Given the description of an element on the screen output the (x, y) to click on. 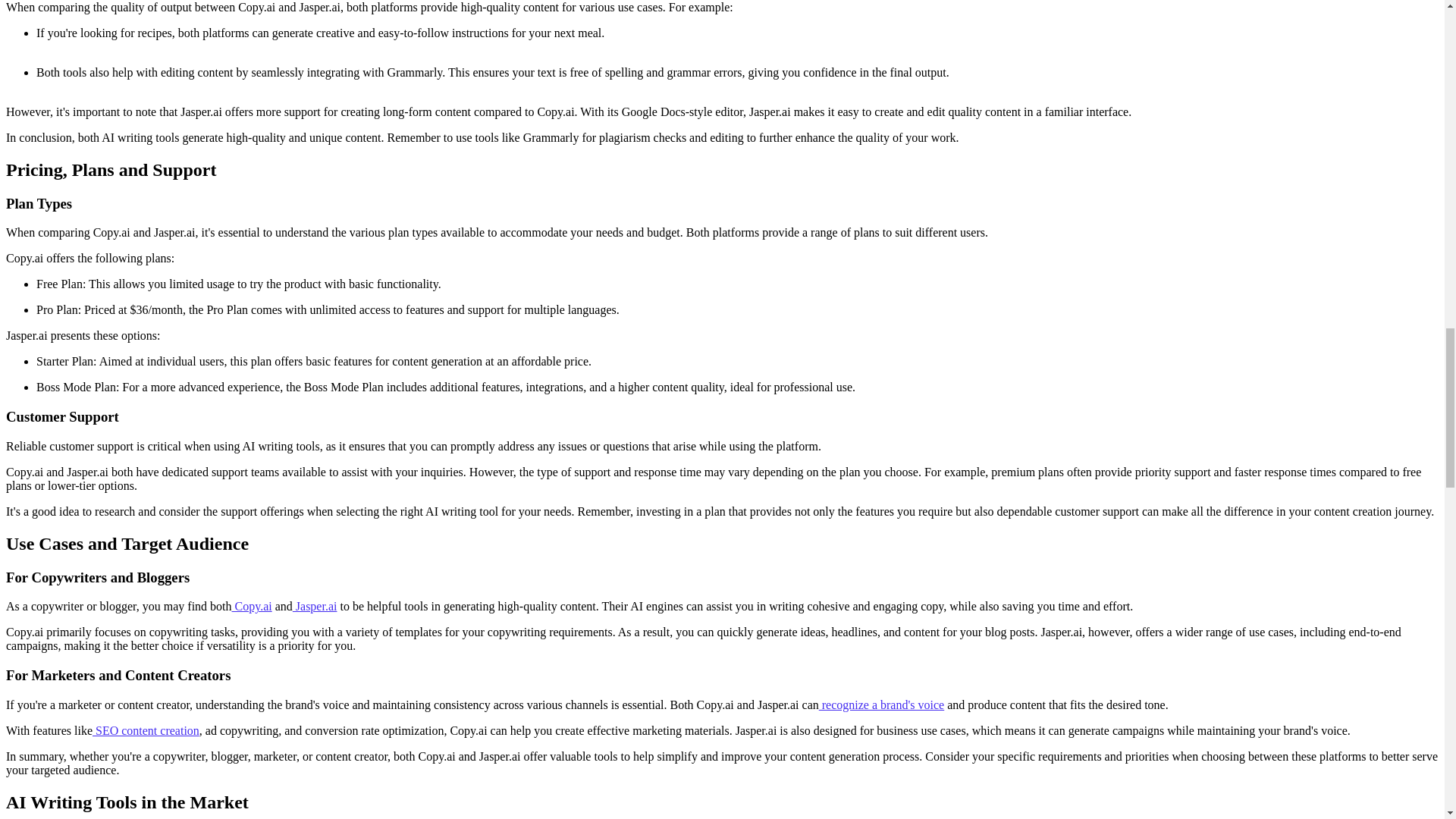
 Copy.ai (251, 605)
 Jasper.ai (314, 605)
 SEO content creation (146, 730)
 recognize a brand's voice (880, 704)
